Given the description of an element on the screen output the (x, y) to click on. 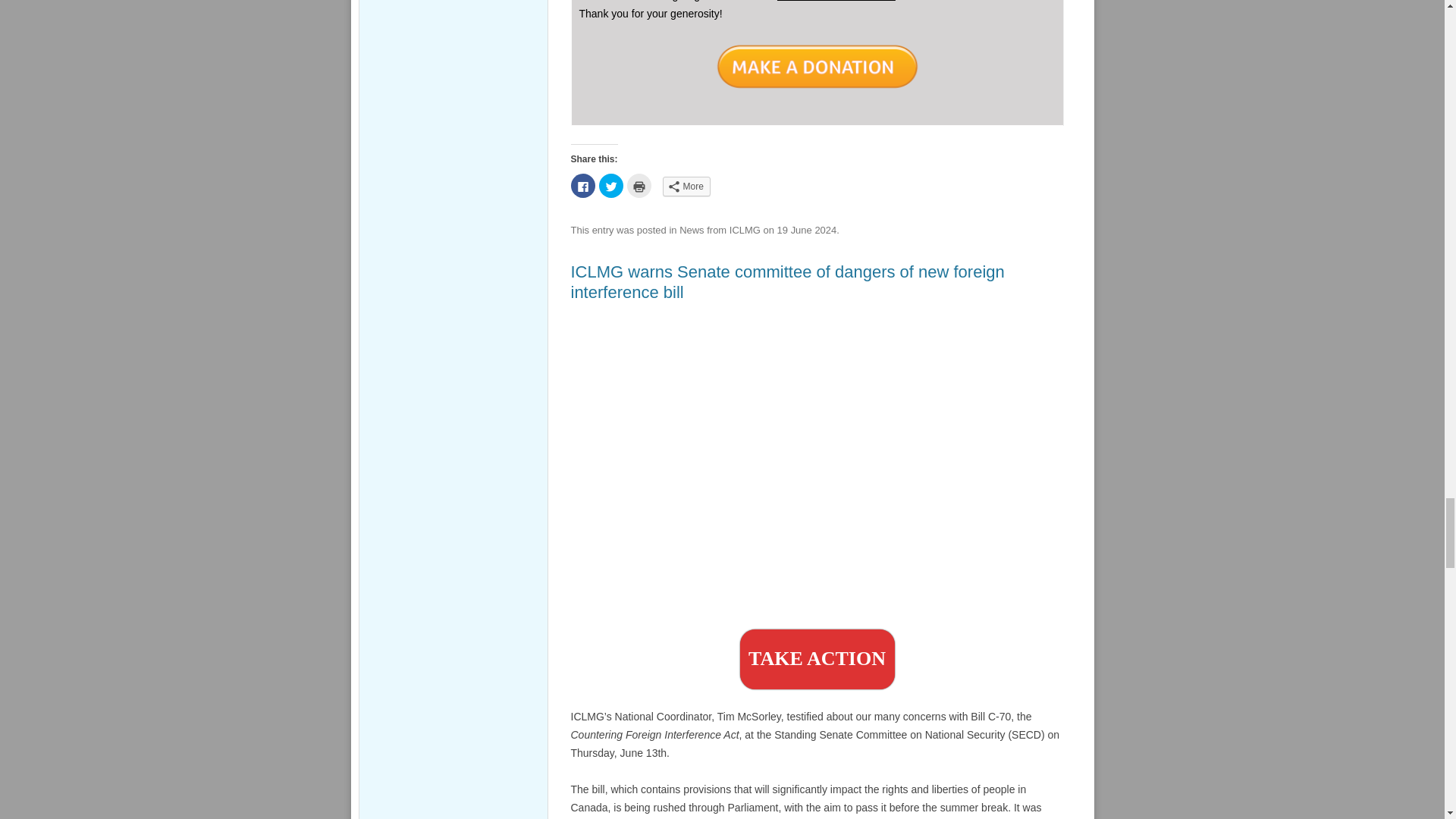
Click to share on Facebook (582, 185)
3:38 pm (807, 229)
Click to share on Twitter (610, 185)
Click to print (638, 185)
